Given the description of an element on the screen output the (x, y) to click on. 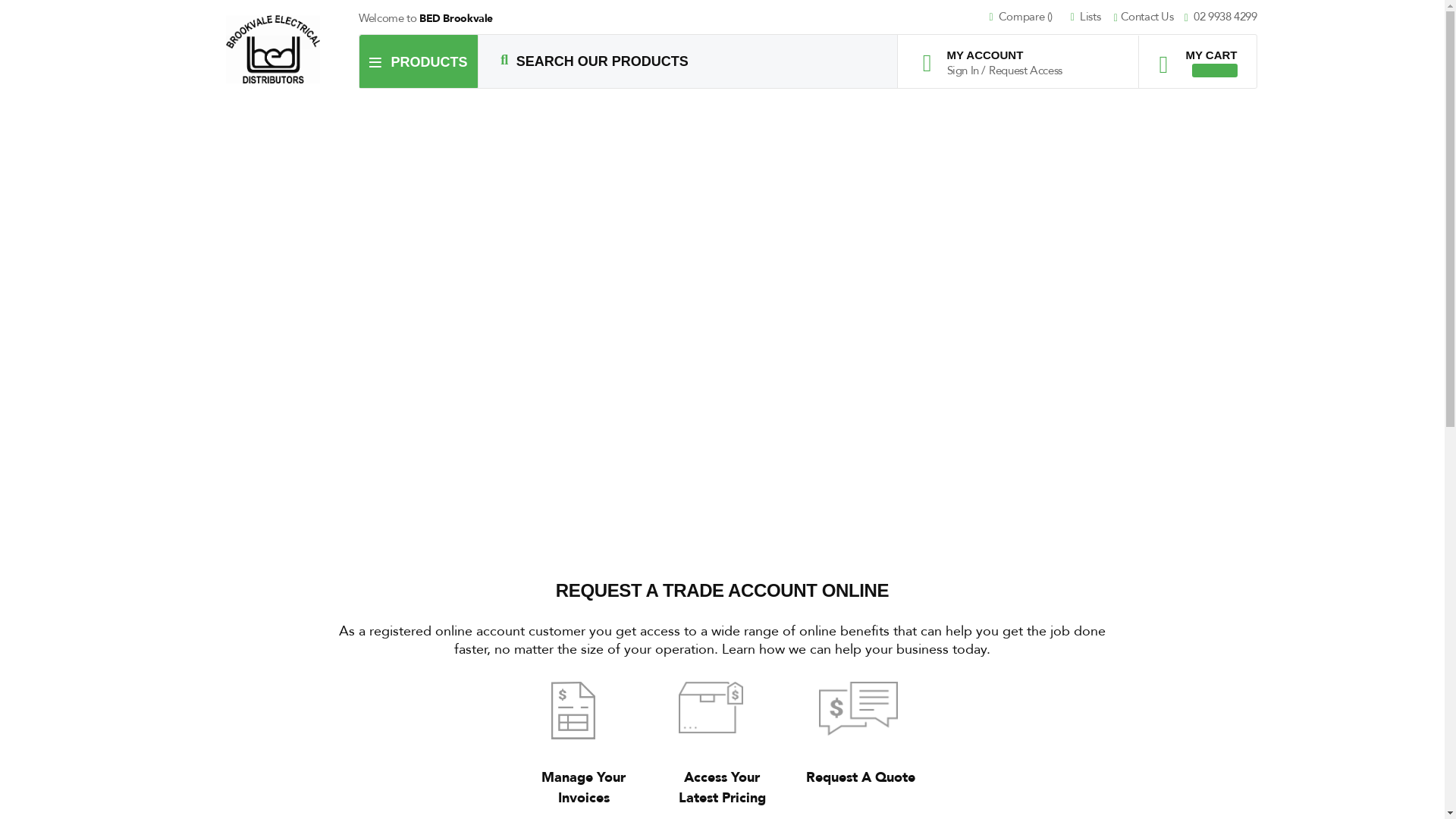
Contact Us Element type: text (1148, 17)
MY ACCOUNT Element type: text (995, 54)
02 9938 4299 Element type: text (1220, 17)
BED Electrical Element type: hover (273, 49)
Sign In Element type: text (963, 70)
MY CART Element type: text (1191, 55)
Lists Element type: text (1090, 17)
Search Element type: text (504, 60)
Compare Element type: text (1027, 17)
Request Access Element type: text (1025, 70)
BED Electrical Element type: hover (272, 49)
